Given the description of an element on the screen output the (x, y) to click on. 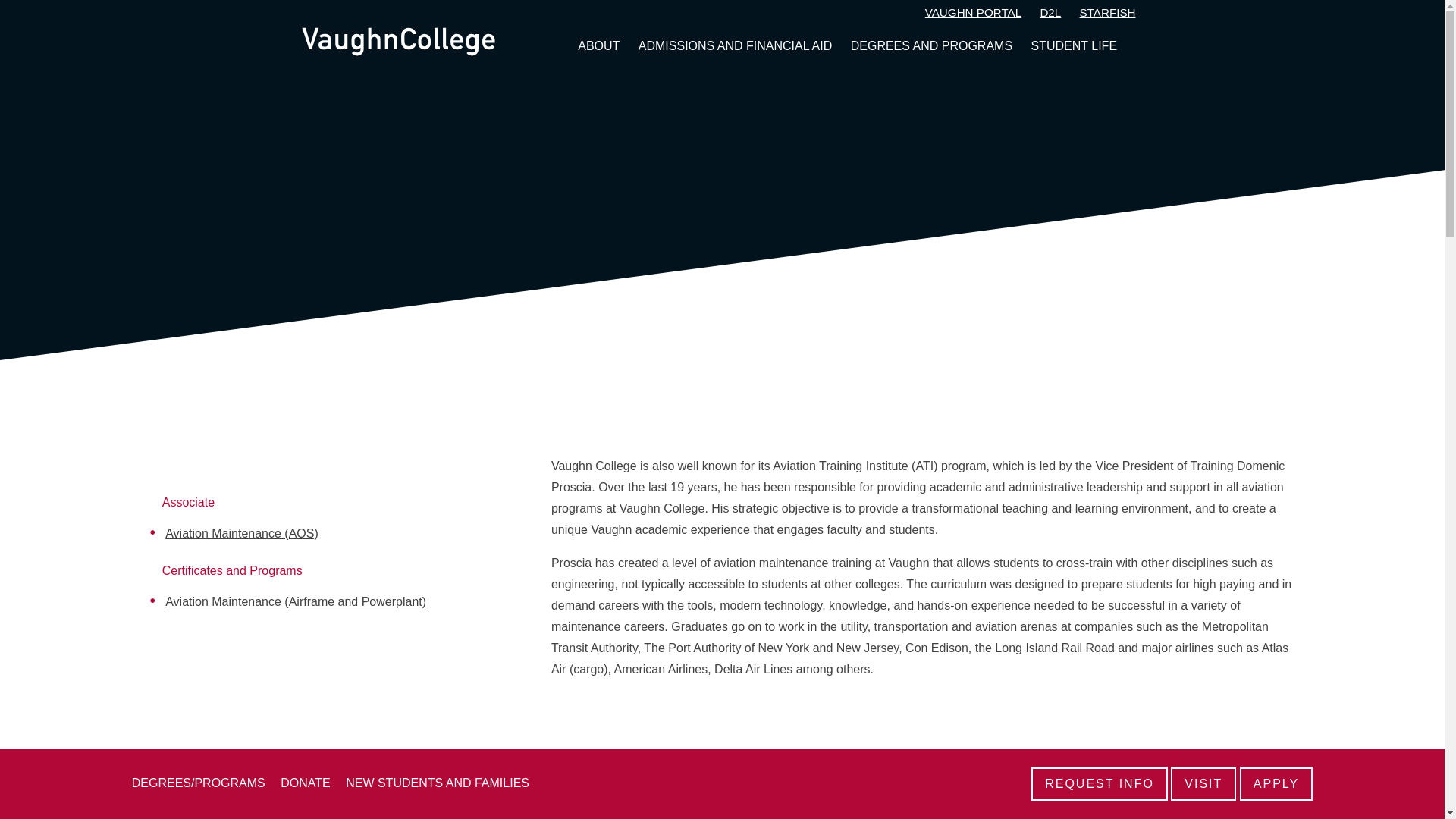
DEGREES AND PROGRAMS (930, 46)
STARFISH (1107, 14)
VAUGHN PORTAL (973, 14)
ABOUT (599, 46)
ADMISSIONS AND FINANCIAL AID (735, 46)
